Given the description of an element on the screen output the (x, y) to click on. 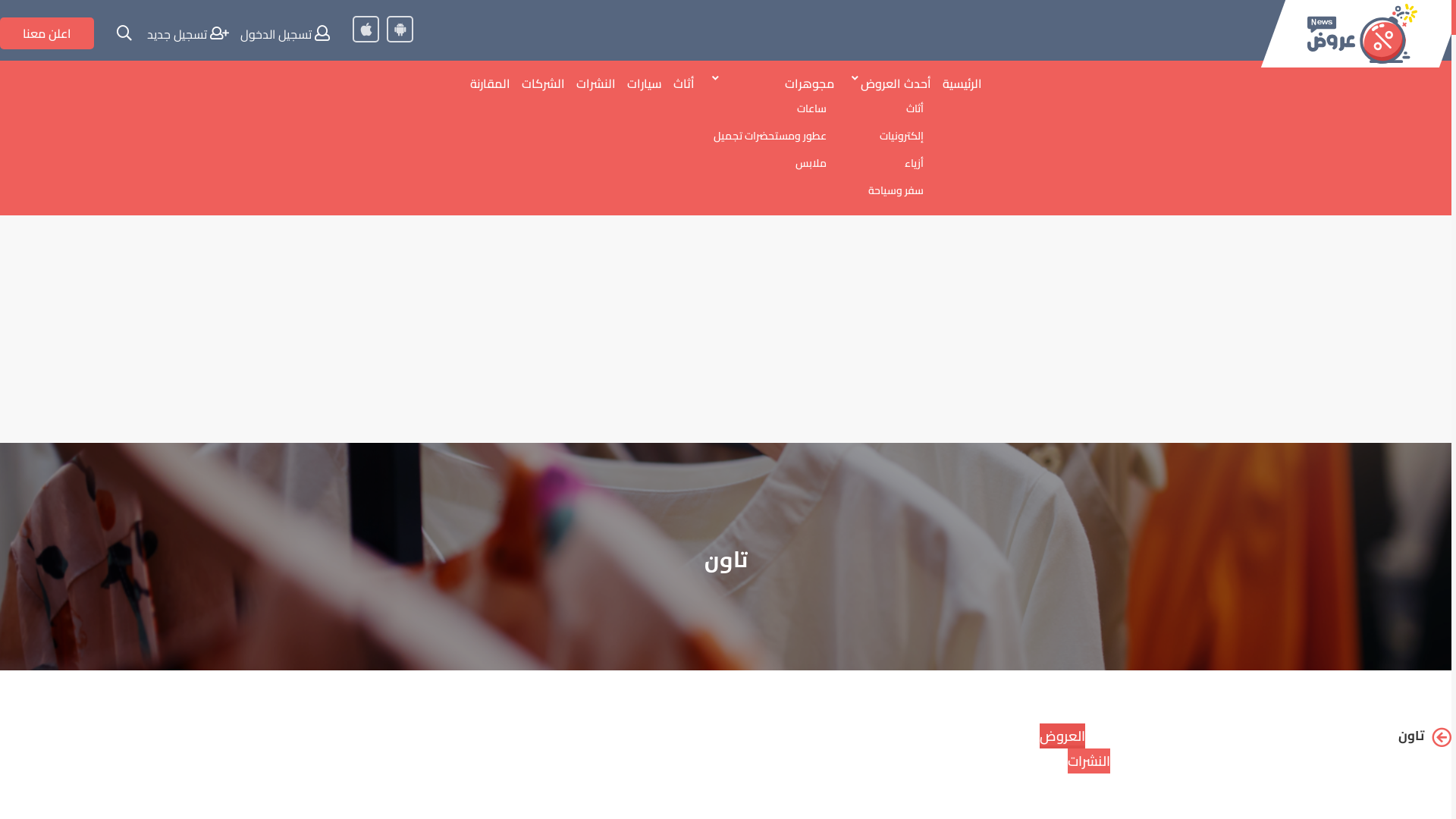
Advertisement Element type: hover (725, 328)
